Given the description of an element on the screen output the (x, y) to click on. 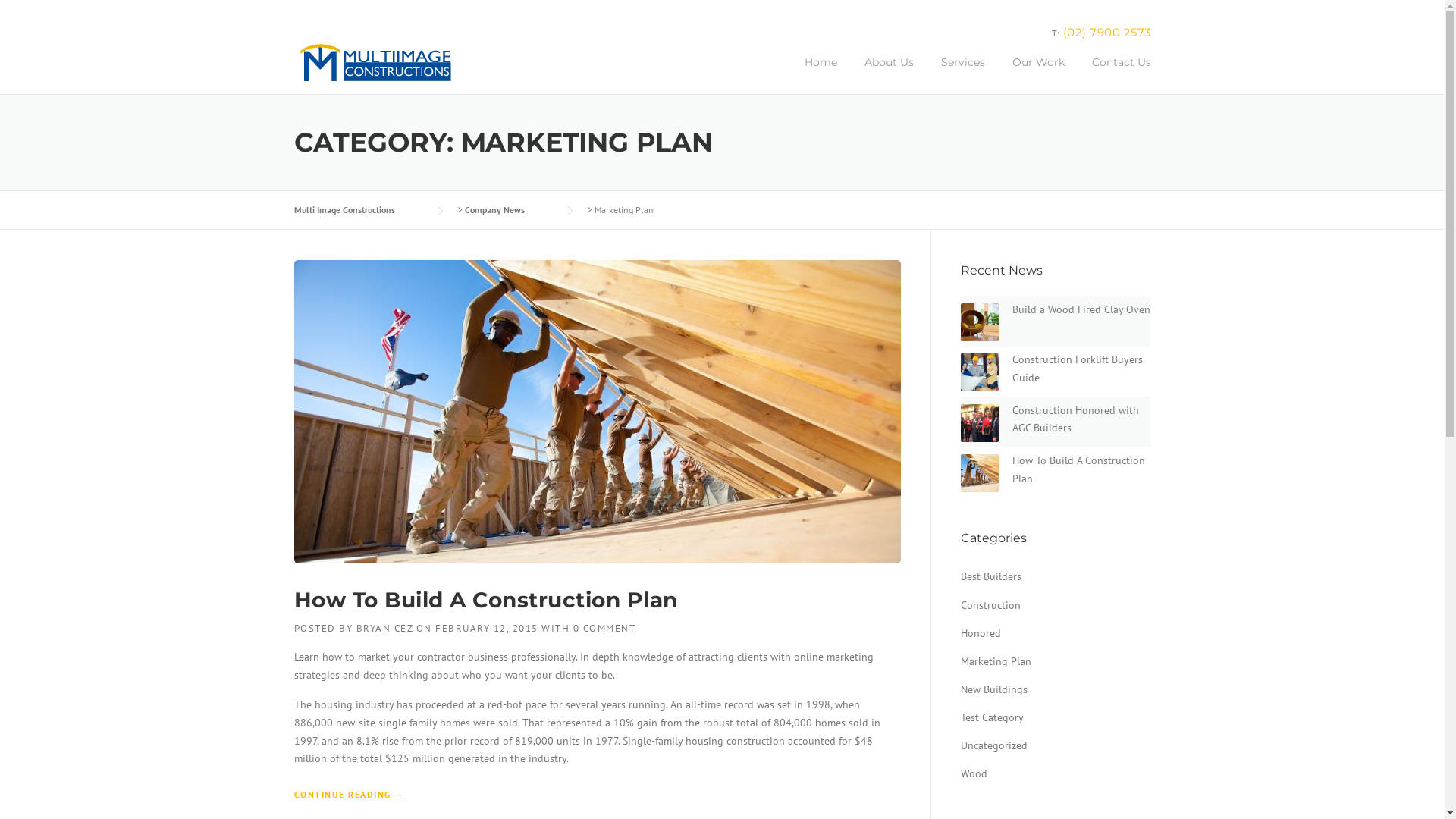
Contact Us Element type: text (1114, 73)
Services Element type: text (961, 73)
Multi Image Constructions Element type: text (359, 209)
How To Build A Construction Plan Element type: text (1077, 469)
Search Element type: text (36, 17)
Construction Honored with AGC Builders Element type: text (1074, 419)
Honored Element type: text (980, 633)
Home Element type: text (820, 73)
Wood Element type: text (973, 773)
Build a Wood Fired Clay Oven Element type: text (1080, 309)
Construction Element type: text (989, 604)
(02) 7900 2573 Element type: text (1107, 32)
How To Build A Construction Plan Element type: text (485, 599)
Best Builders Element type: text (990, 576)
Marketing Plan Element type: text (995, 661)
Uncategorized Element type: text (993, 745)
New Buildings Element type: text (993, 689)
Construction Forklift Buyers Guide Element type: text (1076, 368)
0 COMMENT Element type: text (604, 627)
Multi Image Constructions Element type: hover (377, 62)
Test Category Element type: text (991, 717)
Company News Element type: text (509, 209)
Our Work Element type: text (1037, 73)
FEBRUARY 12, 2015 Element type: text (486, 627)
BRYAN CEZ Element type: text (384, 627)
About Us Element type: text (888, 73)
